Given the description of an element on the screen output the (x, y) to click on. 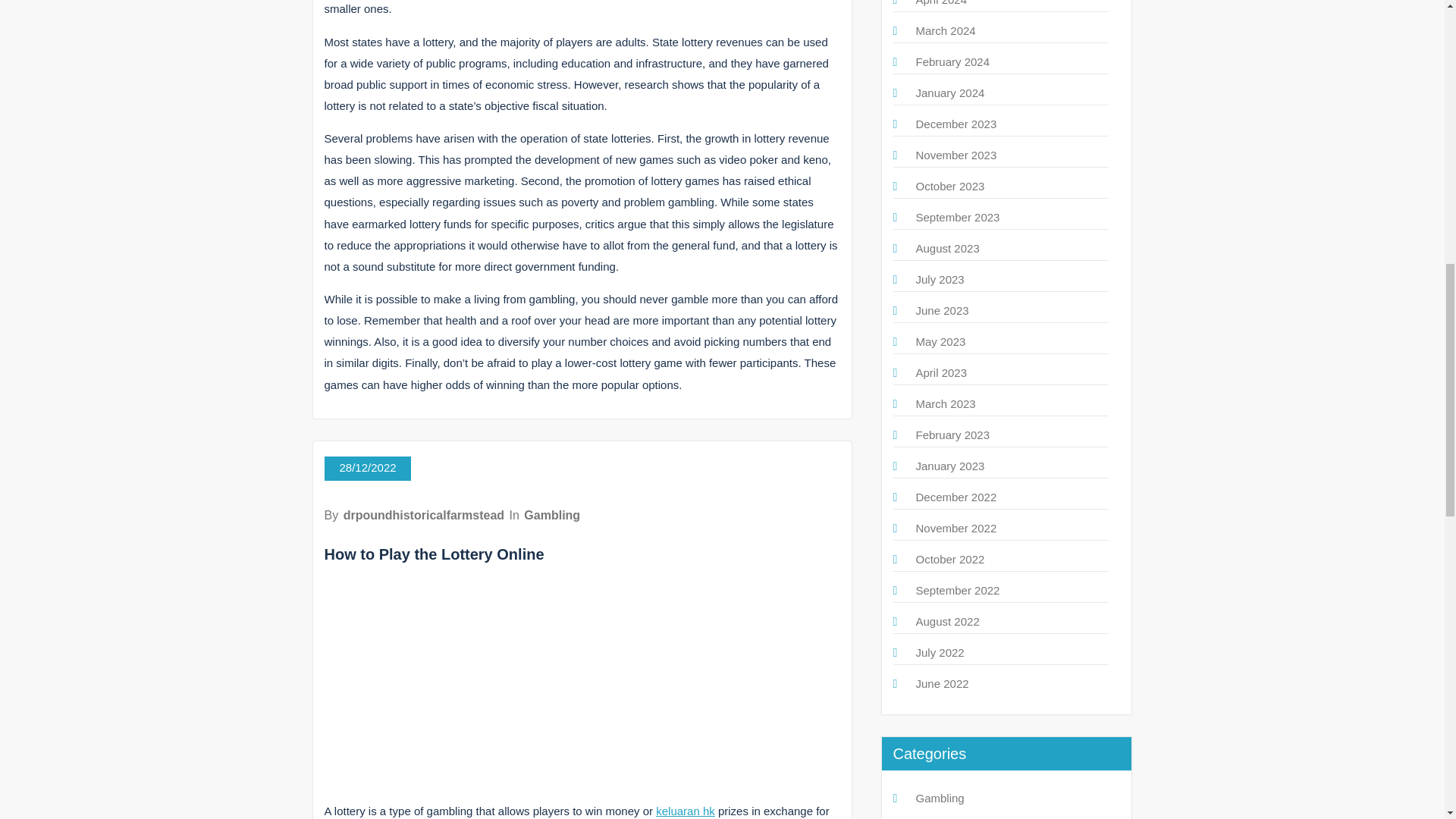
July 2023 (939, 278)
October 2023 (950, 185)
November 2023 (956, 154)
drpoundhistoricalfarmstead (423, 514)
December 2022 (956, 496)
April 2024 (941, 2)
May 2023 (940, 341)
February 2024 (952, 61)
Gambling (551, 514)
September 2023 (957, 216)
March 2024 (945, 30)
March 2023 (945, 403)
January 2023 (950, 465)
December 2023 (956, 123)
keluaran hk (685, 810)
